Given the description of an element on the screen output the (x, y) to click on. 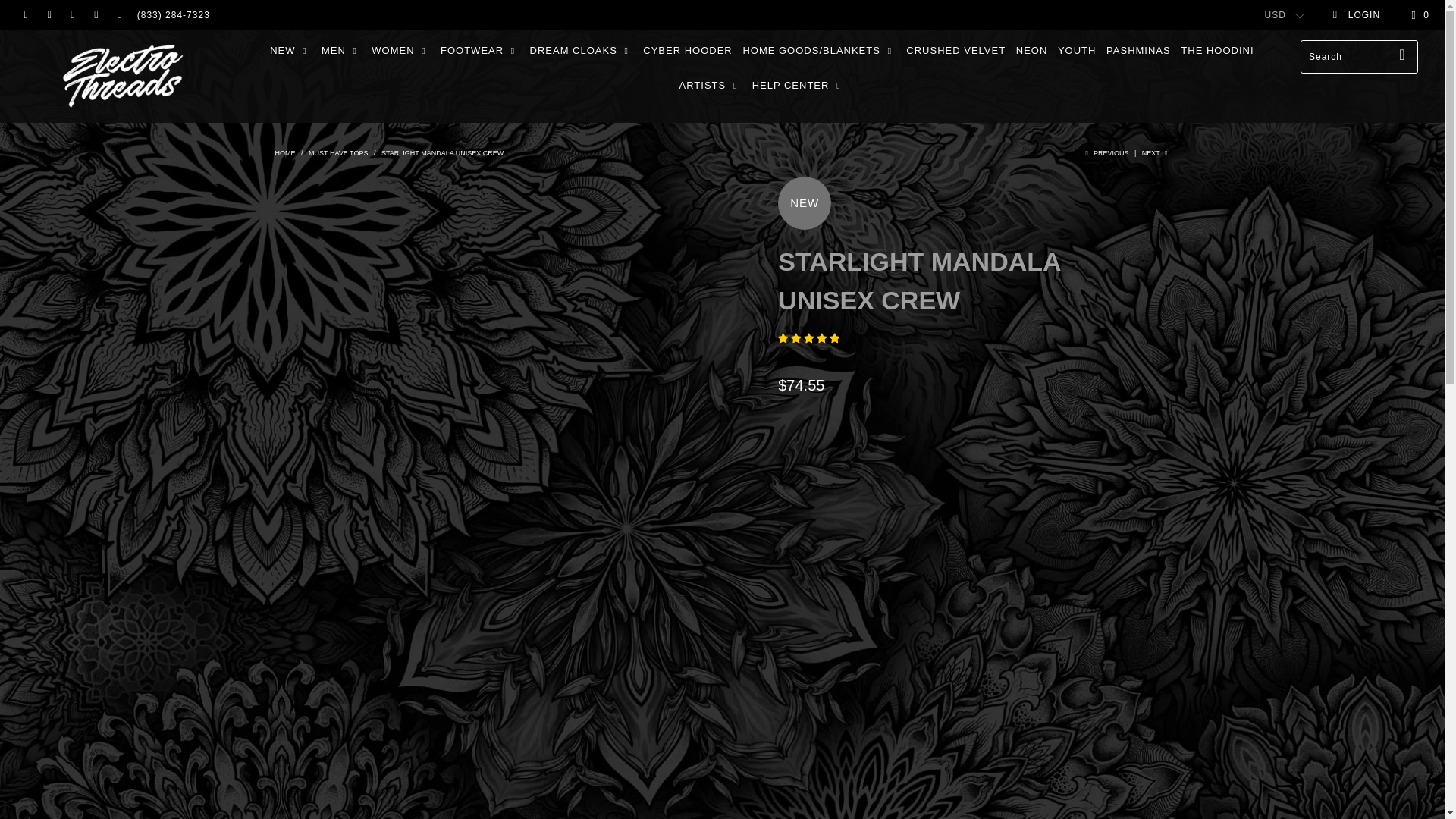
Electro Threads (285, 153)
Electro Threads on Facebook (48, 14)
Email Electro Threads (118, 14)
Next (1155, 153)
Must have Tops (338, 153)
Electro Threads on Twitter (25, 14)
Electro Threads on Instagram (94, 14)
My Account  (1355, 15)
Previous (1104, 153)
Electro Threads on YouTube (71, 14)
